Given the description of an element on the screen output the (x, y) to click on. 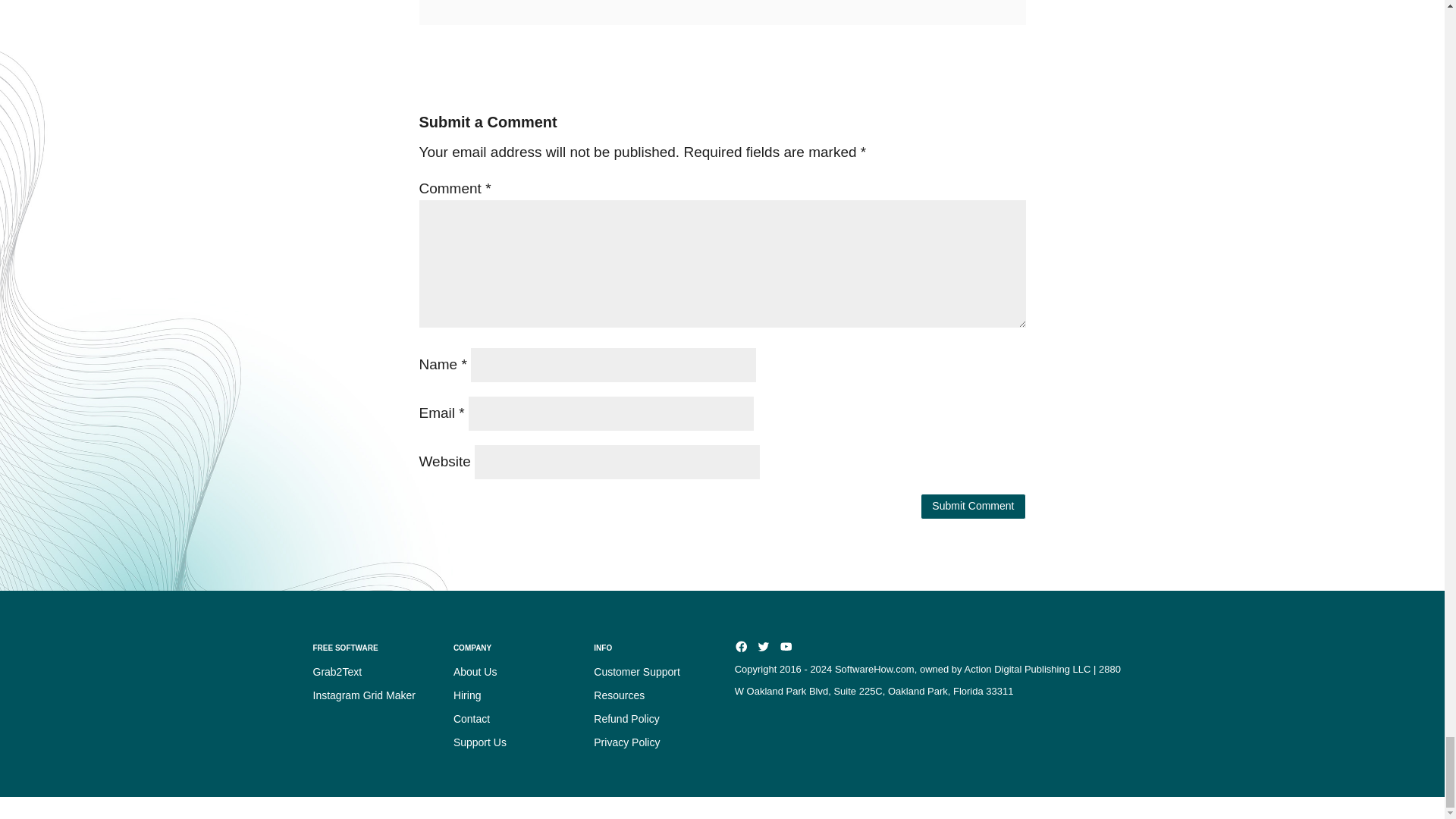
Resources (619, 695)
Instagram Grid Maker (363, 695)
Submit Comment (972, 506)
Contact (470, 718)
Grab2Text (337, 671)
Submit Comment (972, 506)
Hiring (466, 695)
Customer Support (636, 671)
Support Us (479, 742)
About Us (474, 671)
